Given the description of an element on the screen output the (x, y) to click on. 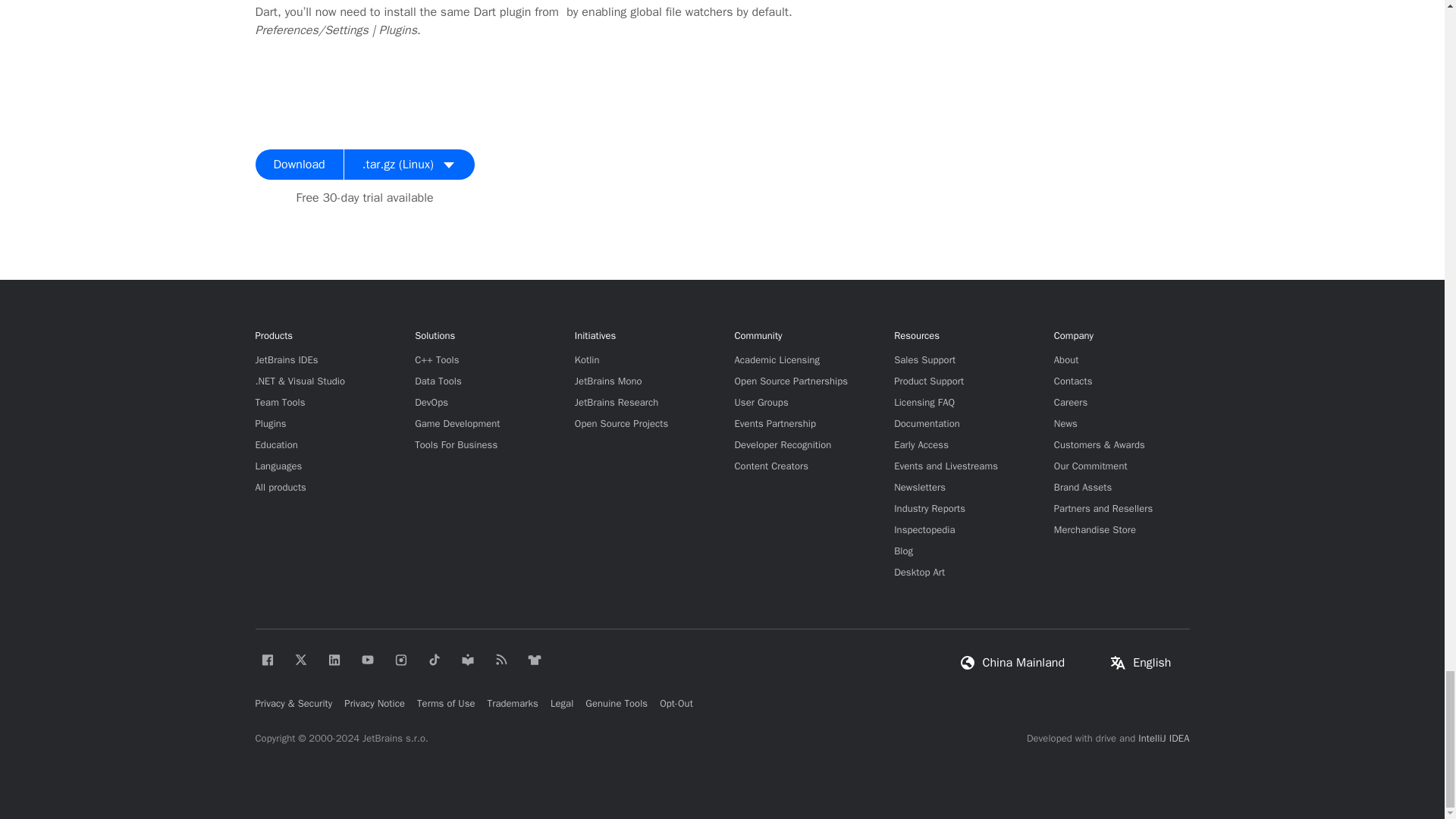
JetBrains RSS Feed (499, 659)
JetBrains on Instagram (400, 659)
JetBrains blog (466, 659)
JetBrains on TikTok (433, 659)
JetBrains on YouTube (366, 659)
JetBrains on Facebook (266, 659)
JetBrains Merchandise Store (533, 659)
JetBrains on LinkedIn (333, 659)
